Given the description of an element on the screen output the (x, y) to click on. 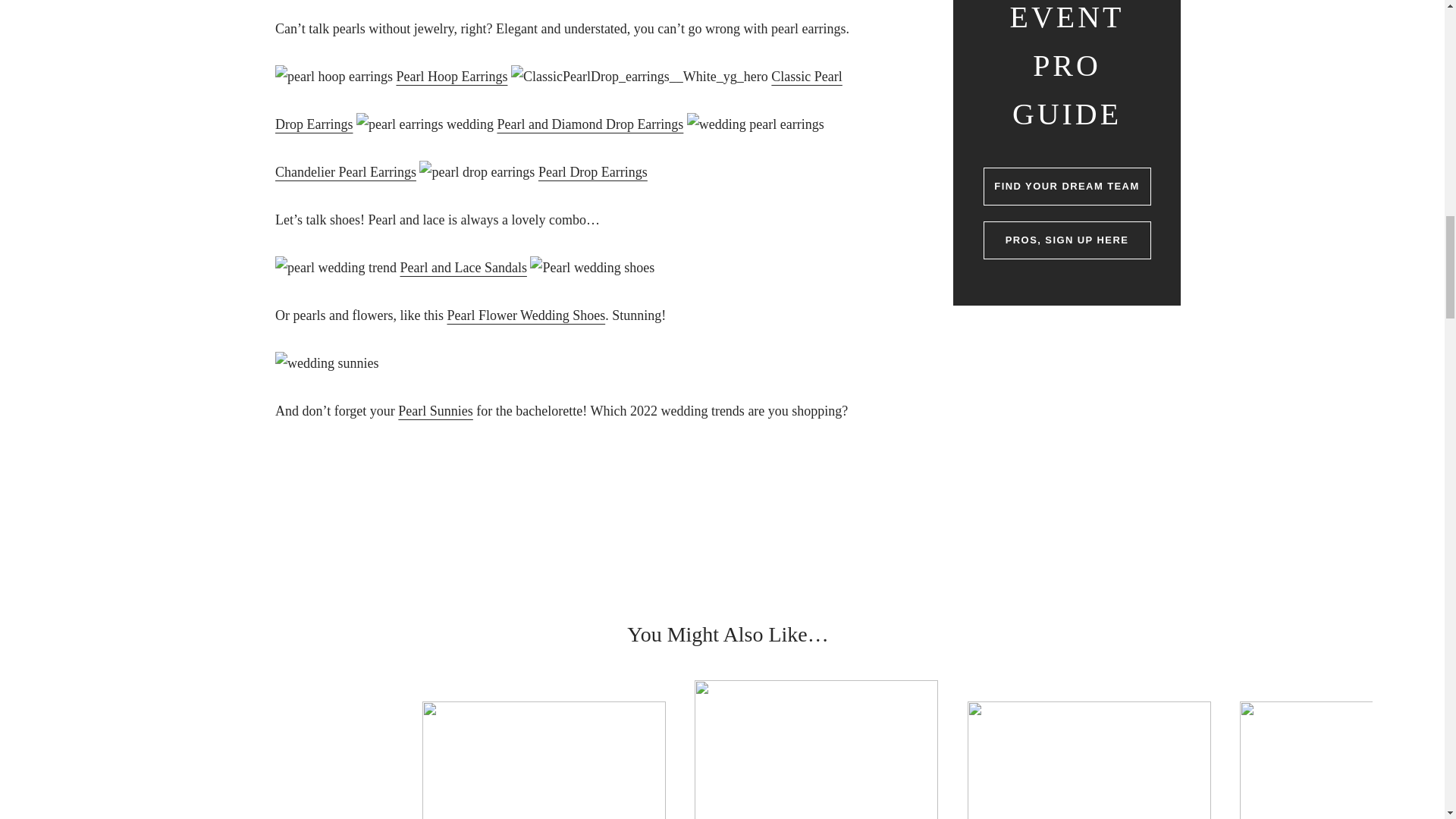
The best places to buy unique wedding shoes in 2024 (1089, 760)
What to wear to a black tie optional wedding (271, 760)
